Given the description of an element on the screen output the (x, y) to click on. 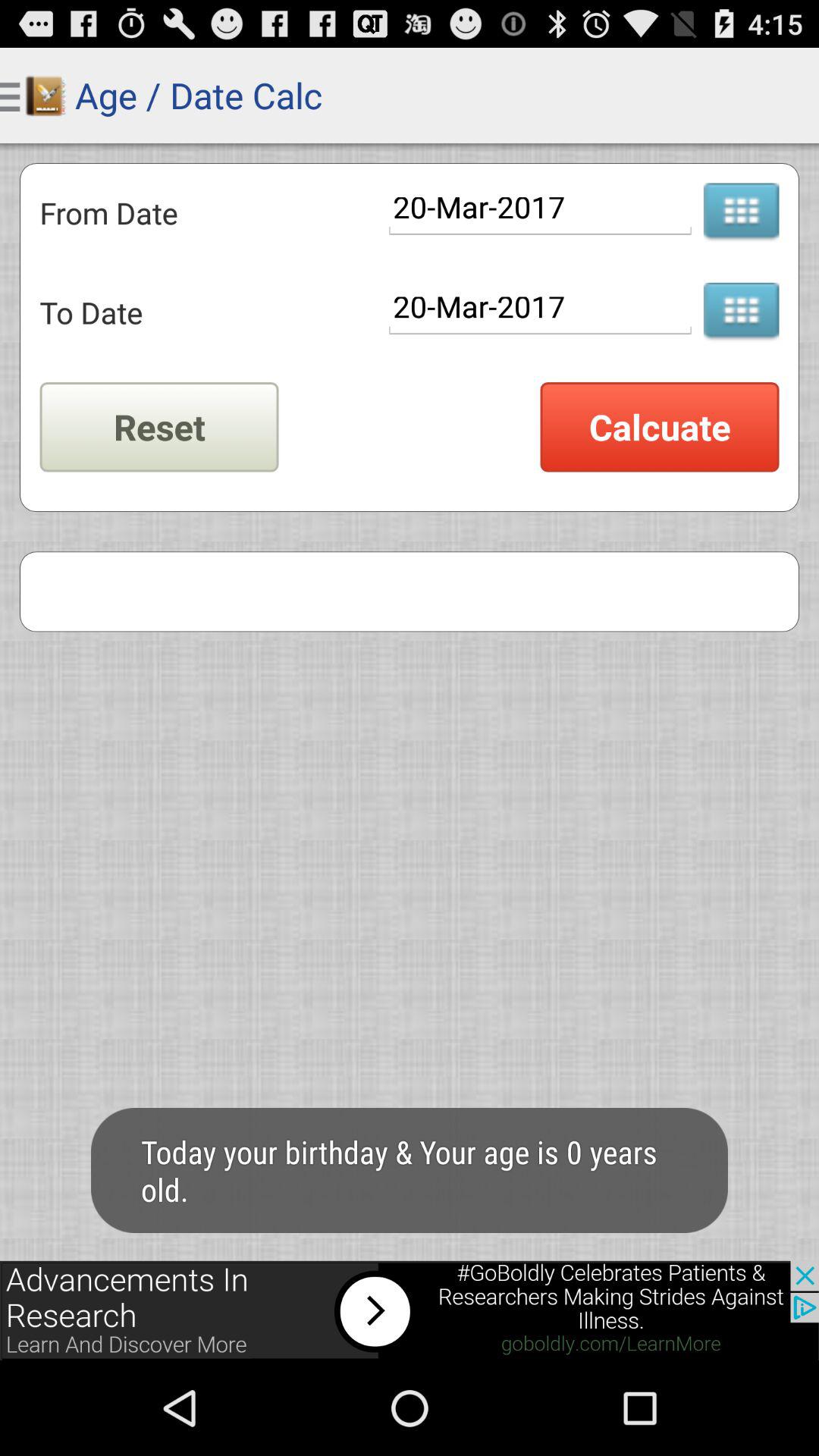
screen page (409, 1310)
